Given the description of an element on the screen output the (x, y) to click on. 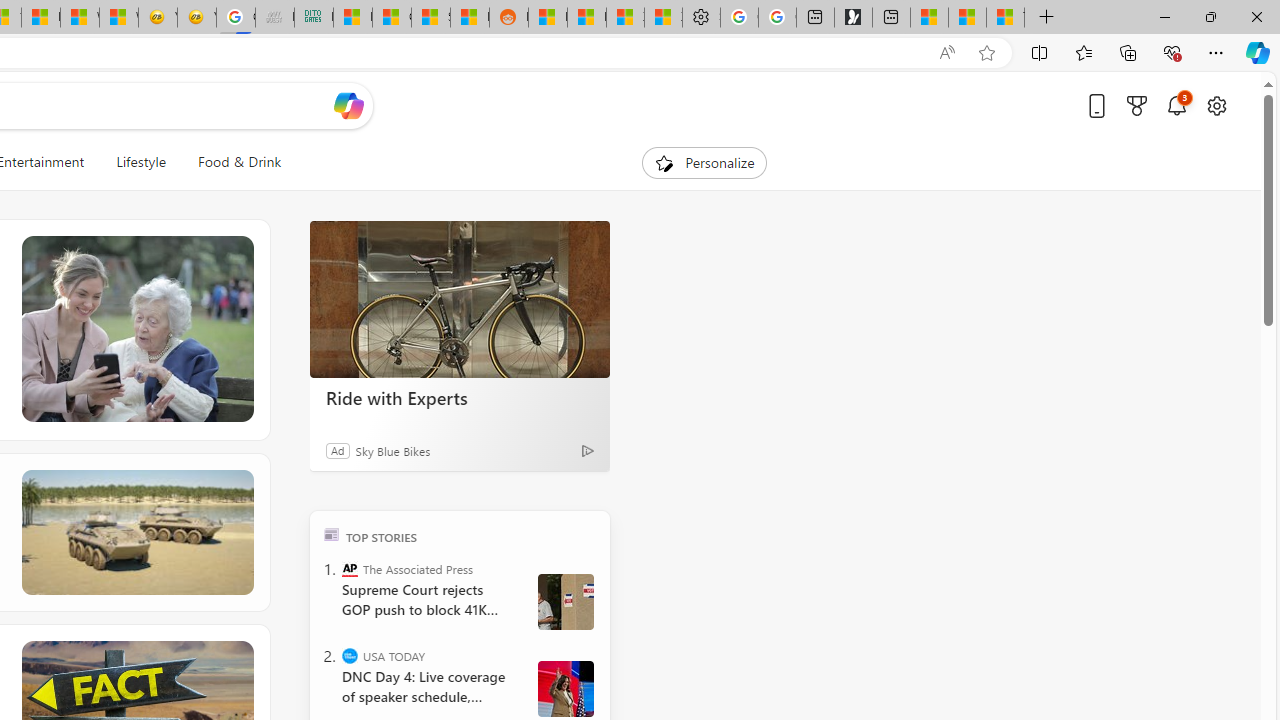
These 3 Stocks Pay You More Than 5% to Own Them (1004, 17)
R******* | Trusted Community Engagement and Contributions (547, 17)
